Given the description of an element on the screen output the (x, y) to click on. 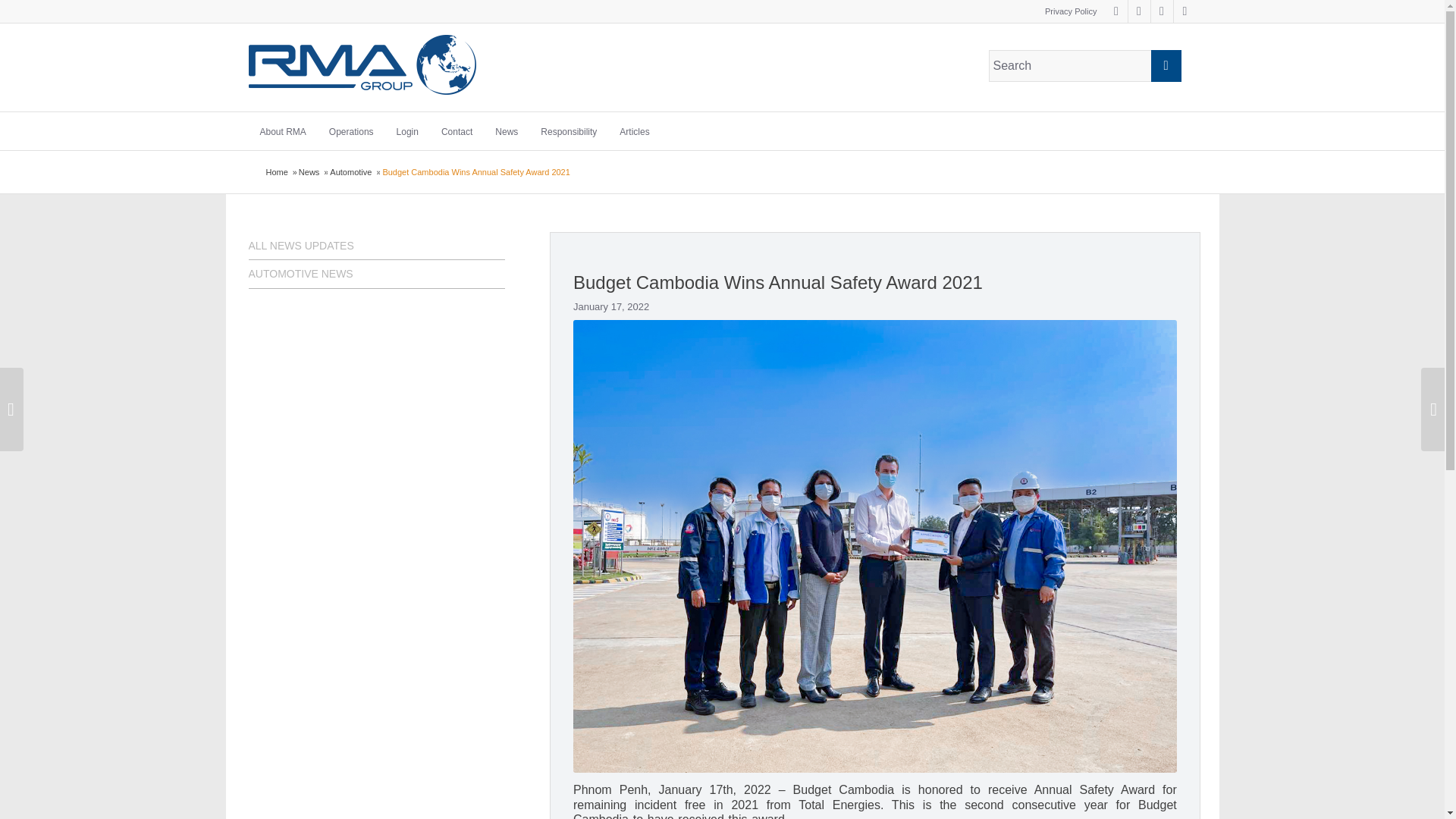
All News Updates (376, 245)
Operations (351, 128)
About RMA (282, 128)
News (309, 172)
Facebook (1115, 11)
Youtube (1162, 11)
RMA GROUP (276, 172)
Budget Cambodia Wins Annual Safety Award 2021 (777, 281)
Contact (455, 128)
